Given the description of an element on the screen output the (x, y) to click on. 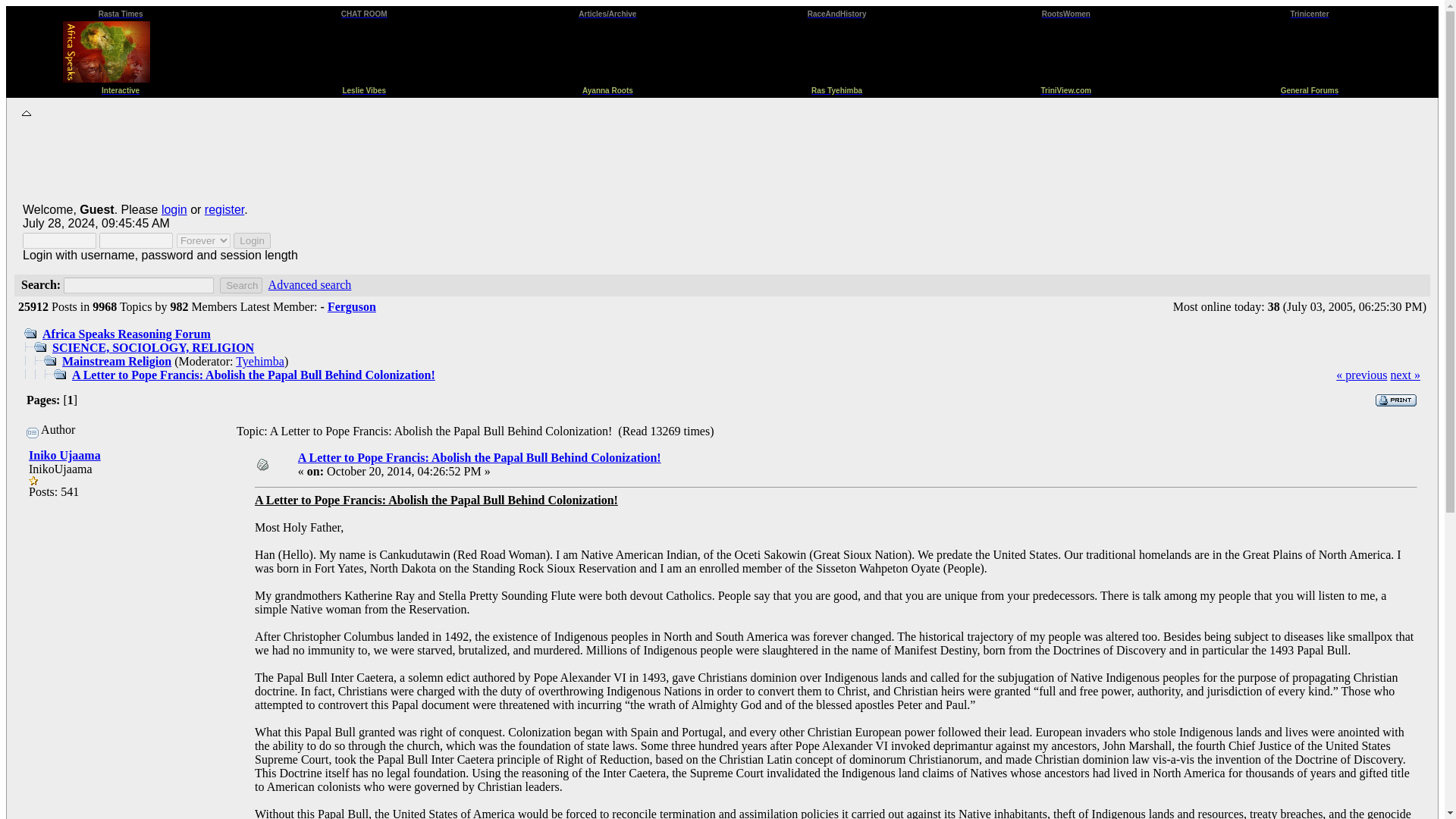
Login (251, 240)
Trinicenter (1308, 11)
Mainstream Religion (116, 360)
Tyehimba (259, 360)
register (224, 209)
SCIENCE, SOCIOLOGY, RELIGION (152, 347)
Ferguson (351, 306)
CHAT ROOM (363, 11)
General Forums (1310, 88)
Leslie Vibes (363, 88)
RaceAndHistory (837, 11)
Advanced search (309, 284)
Search (240, 285)
Ras Tyehimba (835, 88)
